Given the description of an element on the screen output the (x, y) to click on. 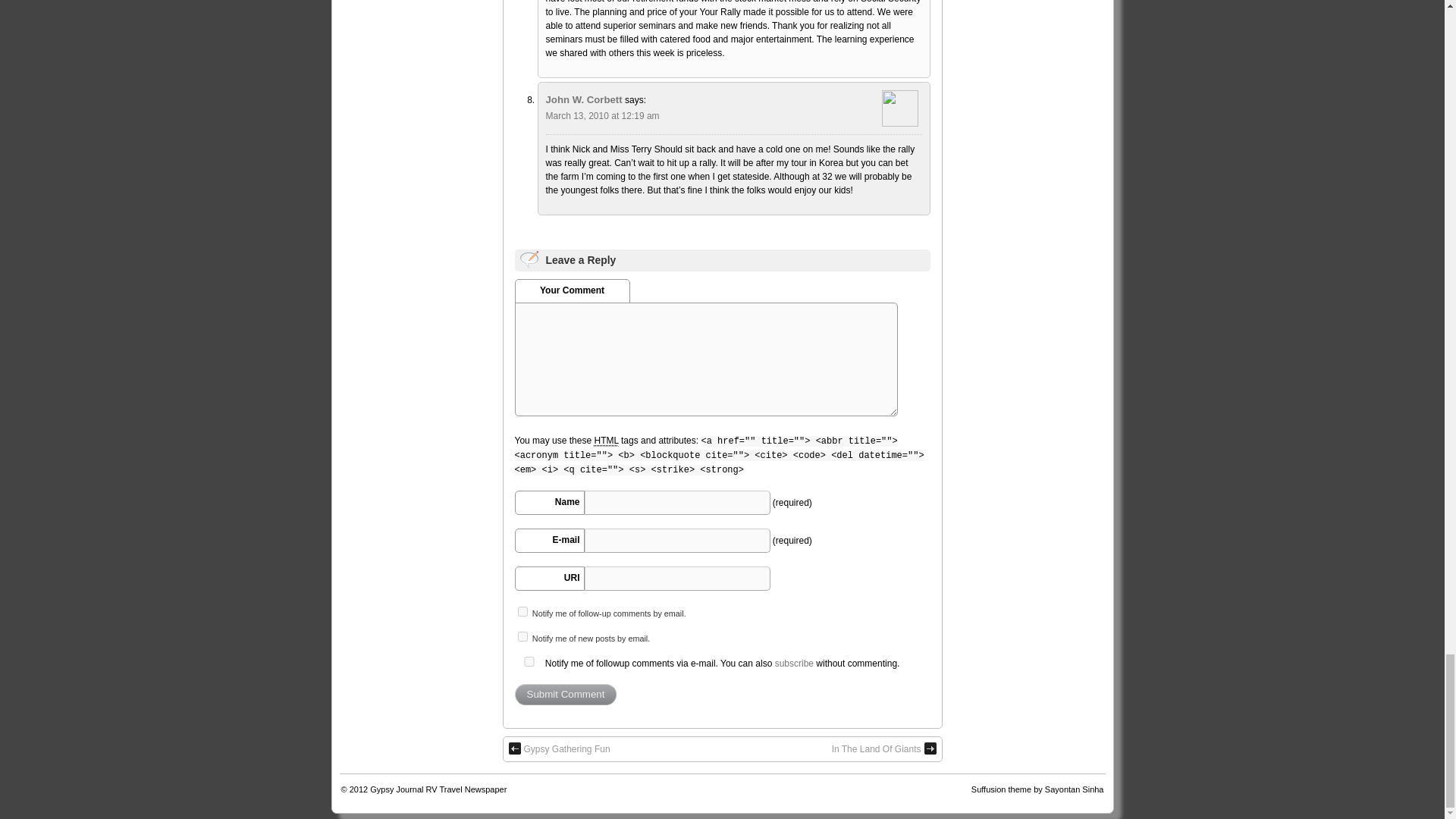
subscribe (521, 611)
Submit Comment (564, 694)
subscribe (521, 636)
yes (528, 661)
